Given the description of an element on the screen output the (x, y) to click on. 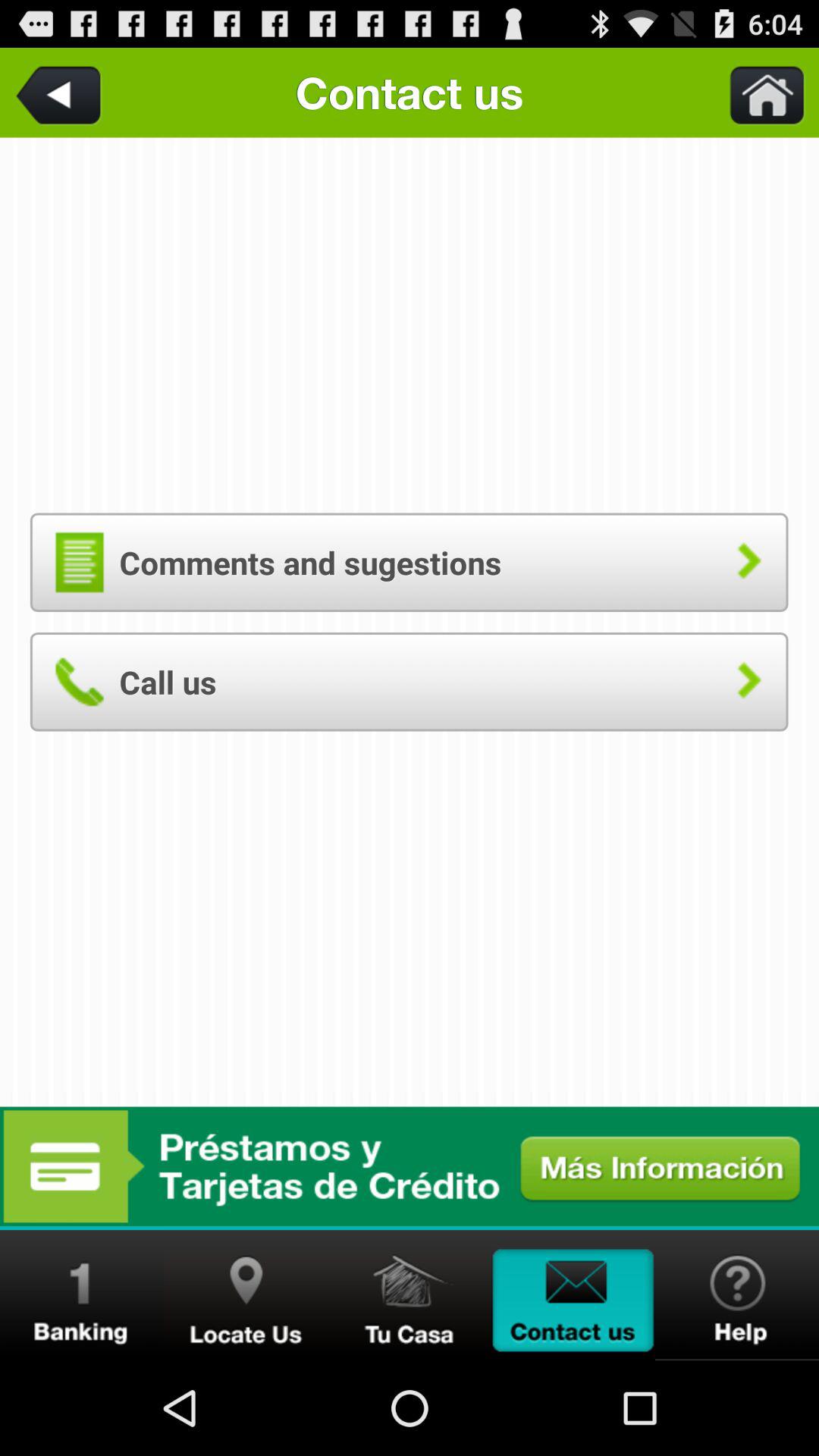
find a location (245, 1295)
